Given the description of an element on the screen output the (x, y) to click on. 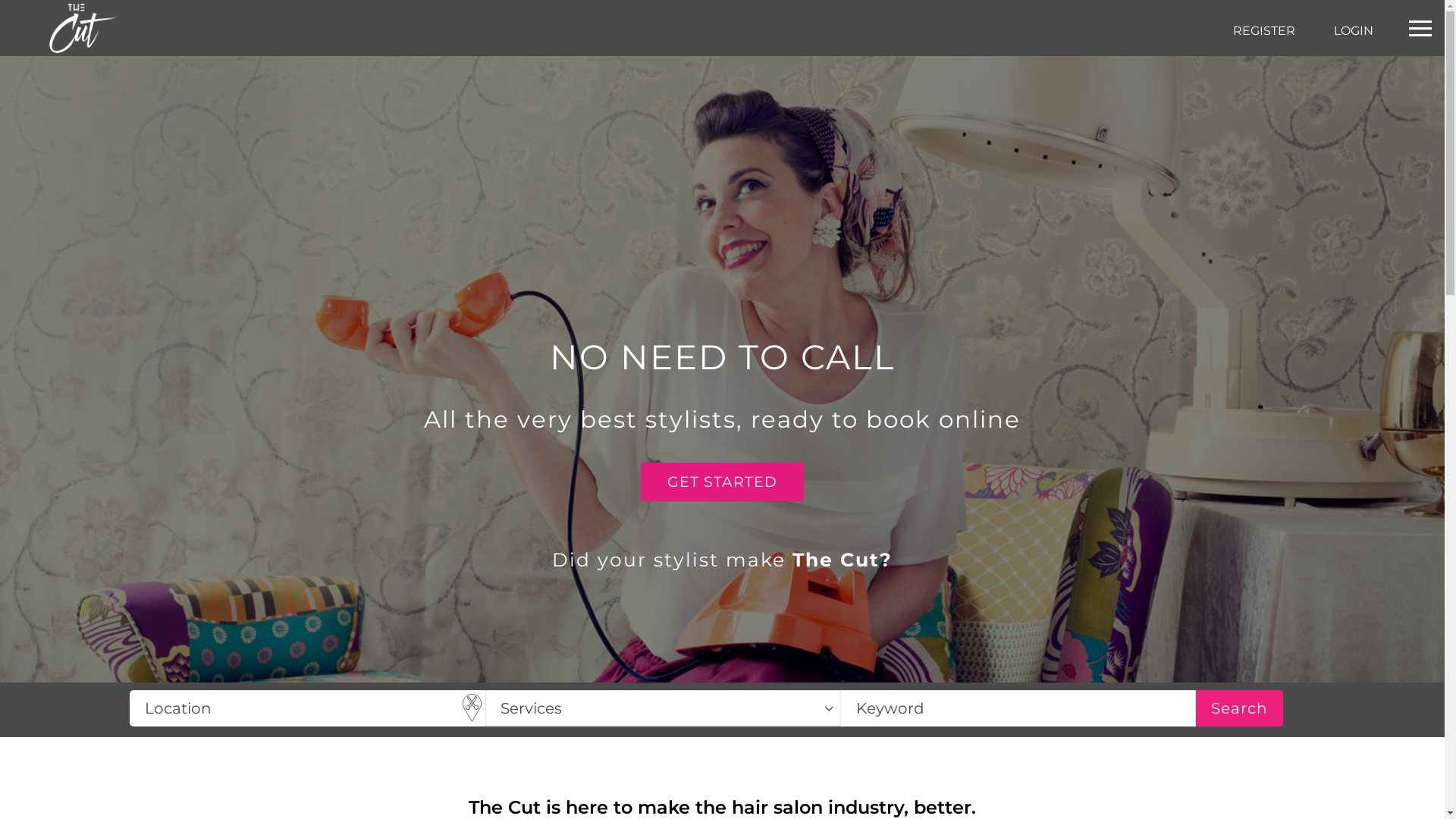
GET STARTED Element type: text (721, 481)
REGISTER Element type: text (1264, 30)
Search Element type: text (1239, 708)
Find my position Element type: hover (471, 707)
LOGIN Element type: text (1353, 31)
Services
  Element type: text (662, 708)
